Given the description of an element on the screen output the (x, y) to click on. 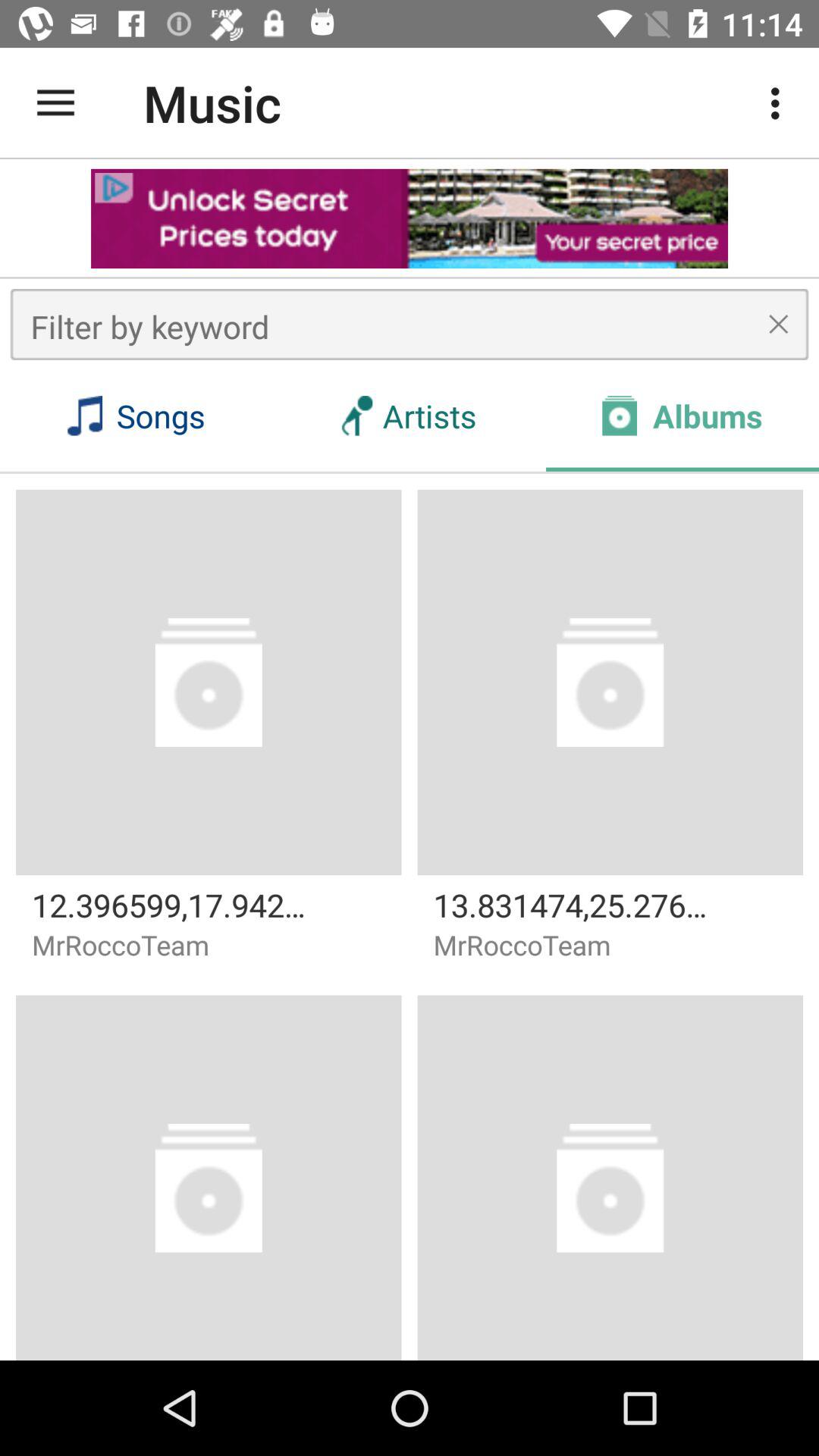
go to search (409, 324)
